Given the description of an element on the screen output the (x, y) to click on. 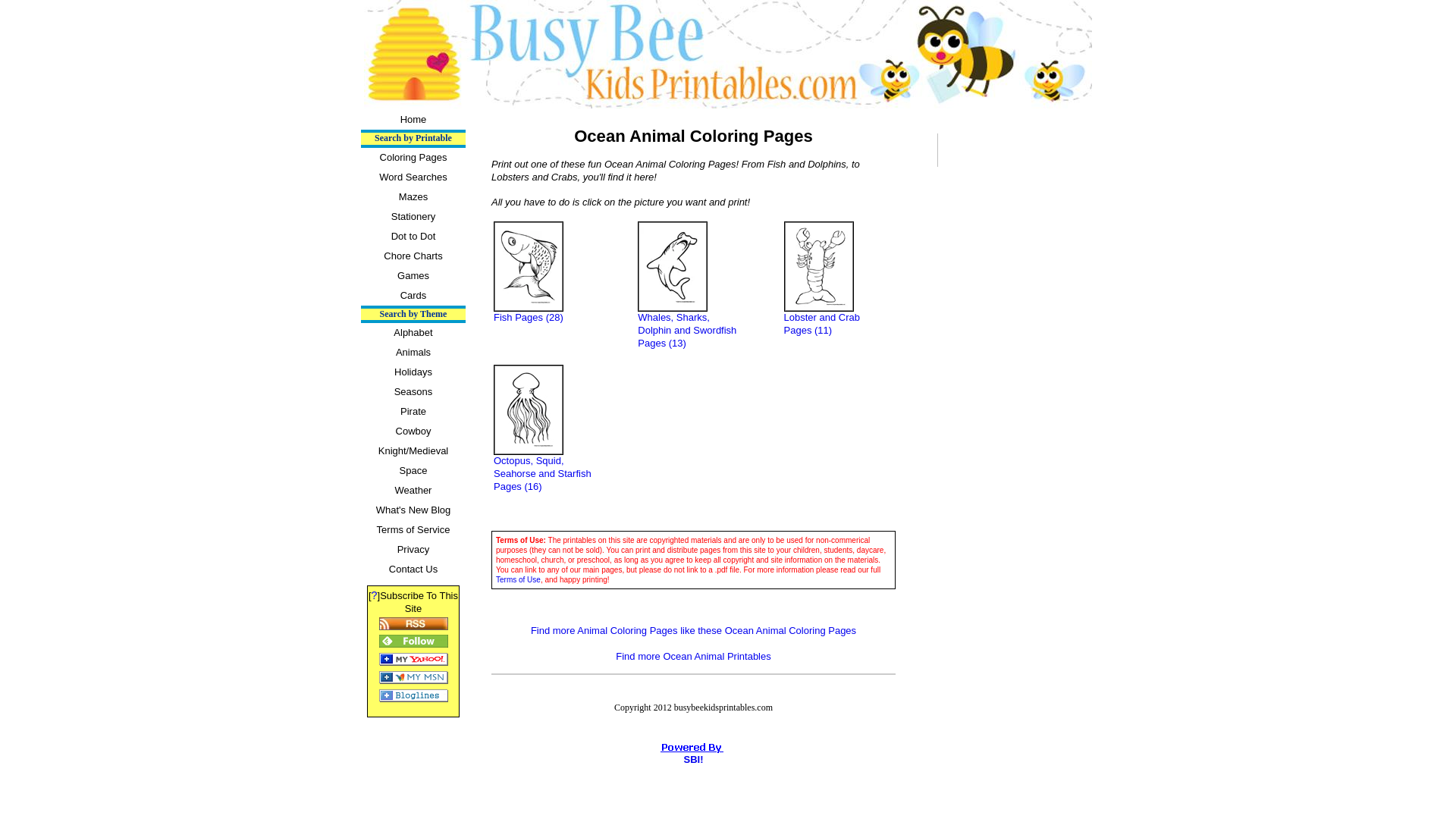
Alphabet (413, 332)
What's New Blog (413, 510)
Word Searches (413, 177)
Chore Charts (413, 256)
Coloring Pages (413, 157)
Terms of Service (413, 529)
Home (413, 119)
Seasons (413, 392)
Games (413, 275)
Mazes (413, 197)
Find more Ocean Animal Printables (735, 668)
Cowboy (413, 431)
Pirate (413, 411)
Animals (413, 352)
